Given the description of an element on the screen output the (x, y) to click on. 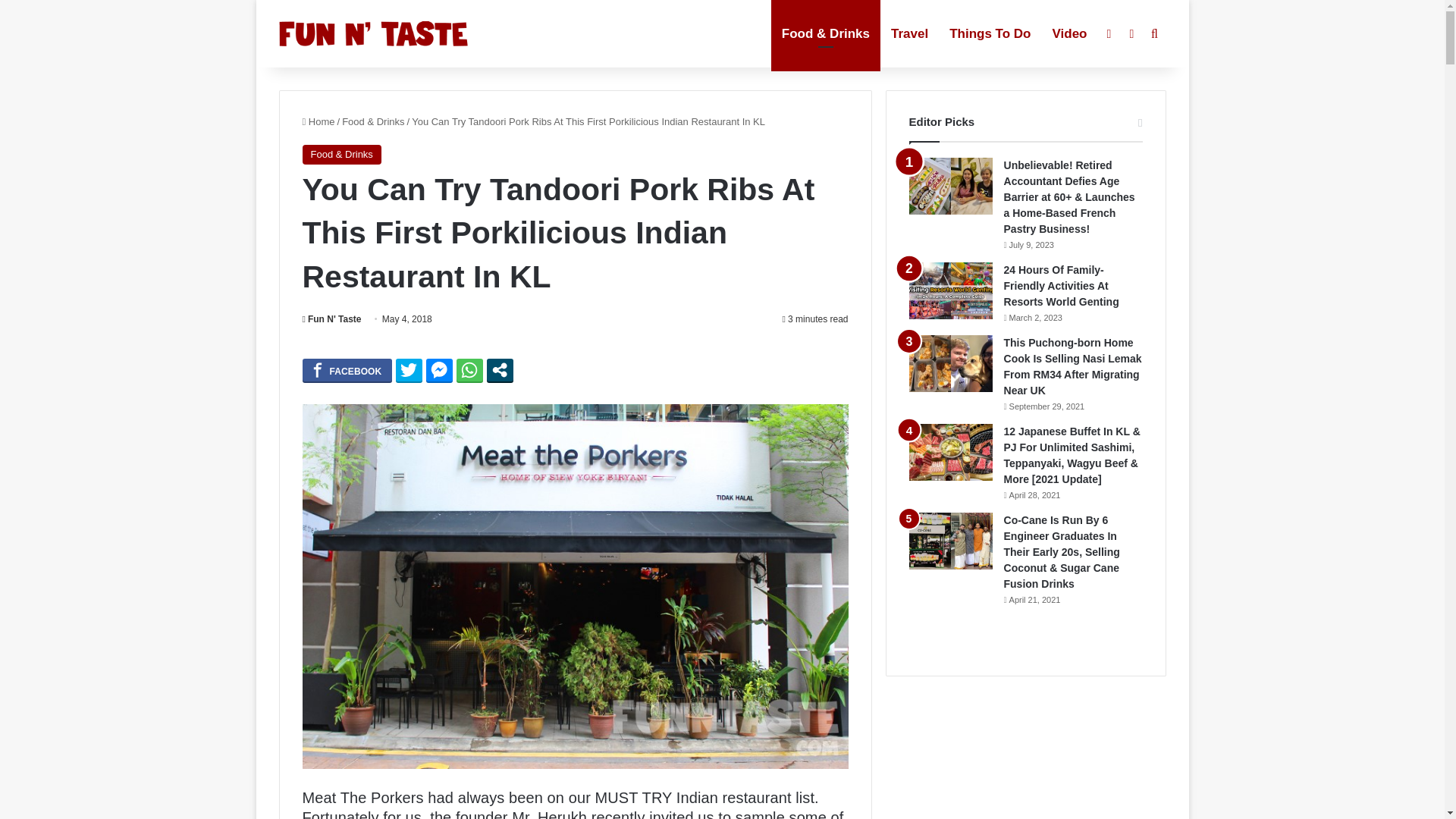
Fun N' Taste (331, 318)
Open modal social networks (499, 369)
Instagram (1131, 33)
Fun N' Taste (331, 318)
Search for (1154, 33)
Share on Facebook (346, 369)
Facebook (1109, 33)
Things To Do (990, 33)
Video (1069, 33)
Tweet (409, 369)
Home (317, 121)
Fun N' Taste (373, 33)
Travel (909, 33)
Send on Facebook Messenger (439, 369)
Share on WhatsApp (470, 369)
